Given the description of an element on the screen output the (x, y) to click on. 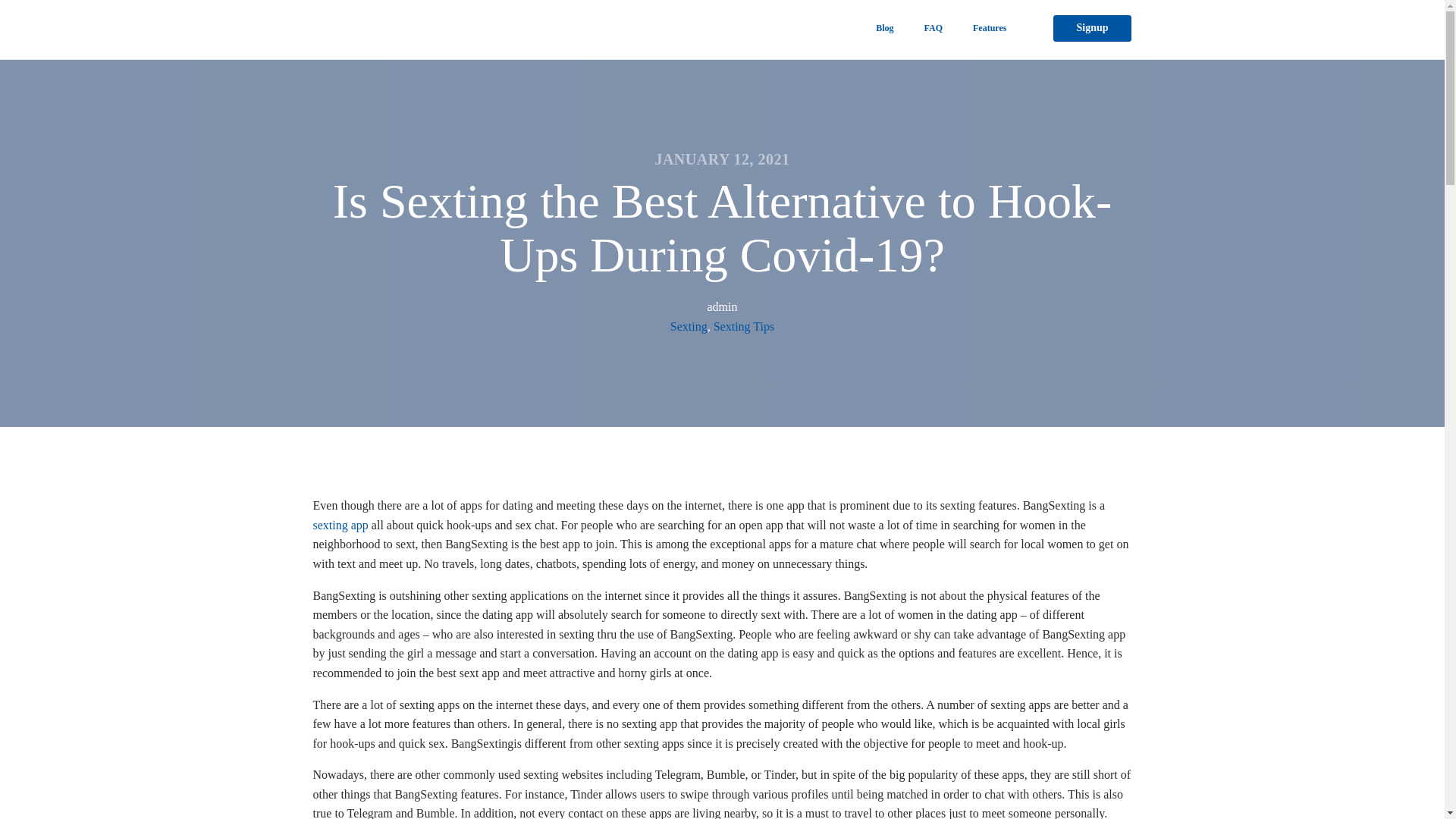
Features (990, 27)
Sexting Tips (743, 326)
Sexting (688, 326)
Signup (1091, 27)
sexting app (340, 524)
FAQ (933, 27)
Blog (884, 27)
